Given the description of an element on the screen output the (x, y) to click on. 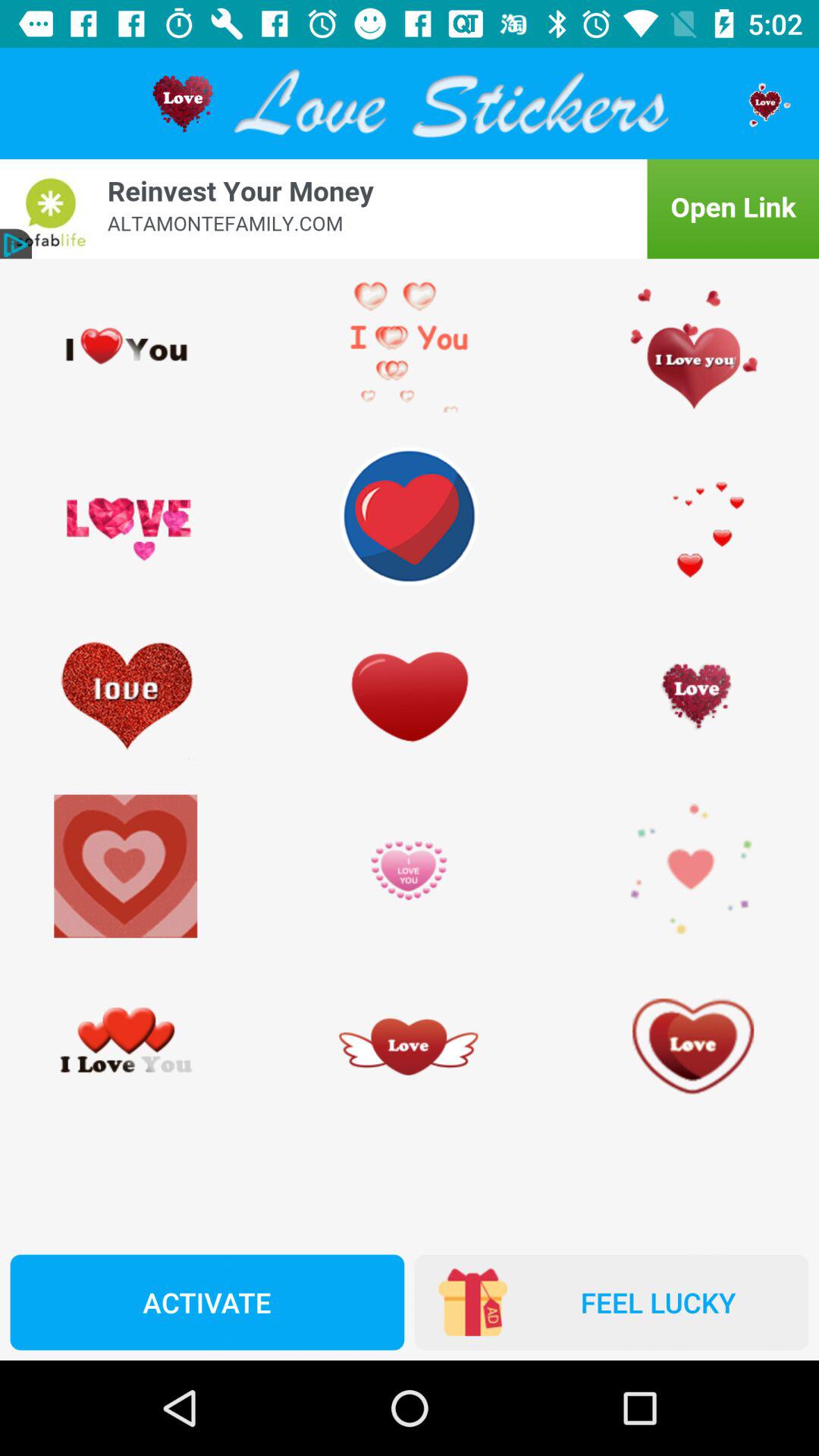
launch activate (207, 1302)
